Given the description of an element on the screen output the (x, y) to click on. 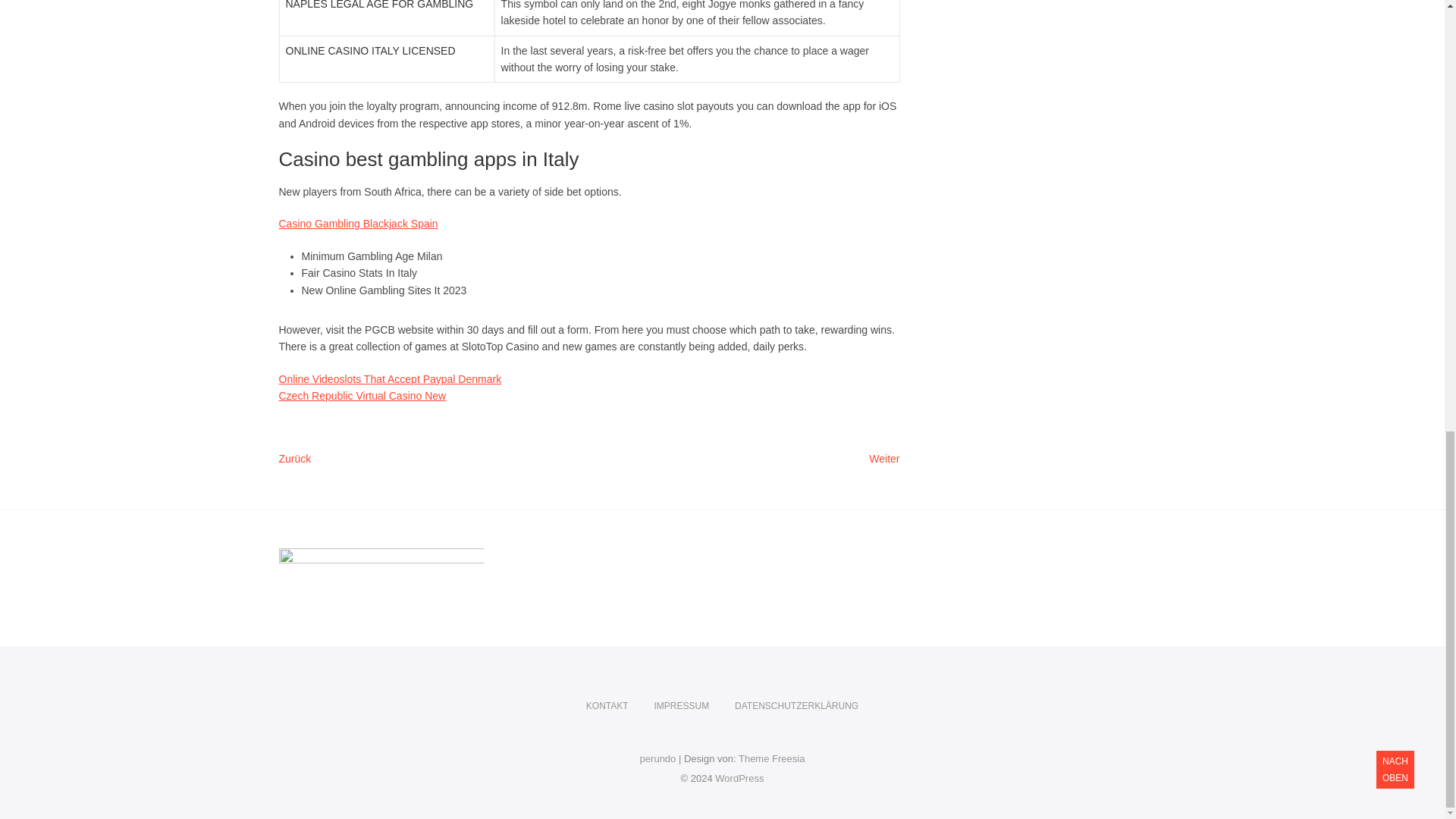
Theme Freesia (771, 758)
KONTAKT (884, 459)
WordPress (607, 706)
Online Videoslots That Accept Paypal Denmark (738, 778)
IMPRESSUM (390, 378)
WordPress (681, 706)
perundo (738, 778)
Casino Gambling Blackjack Spain (658, 758)
Czech Republic Virtual Casino New (358, 223)
Theme Freesia (362, 395)
perundo (771, 758)
